Given the description of an element on the screen output the (x, y) to click on. 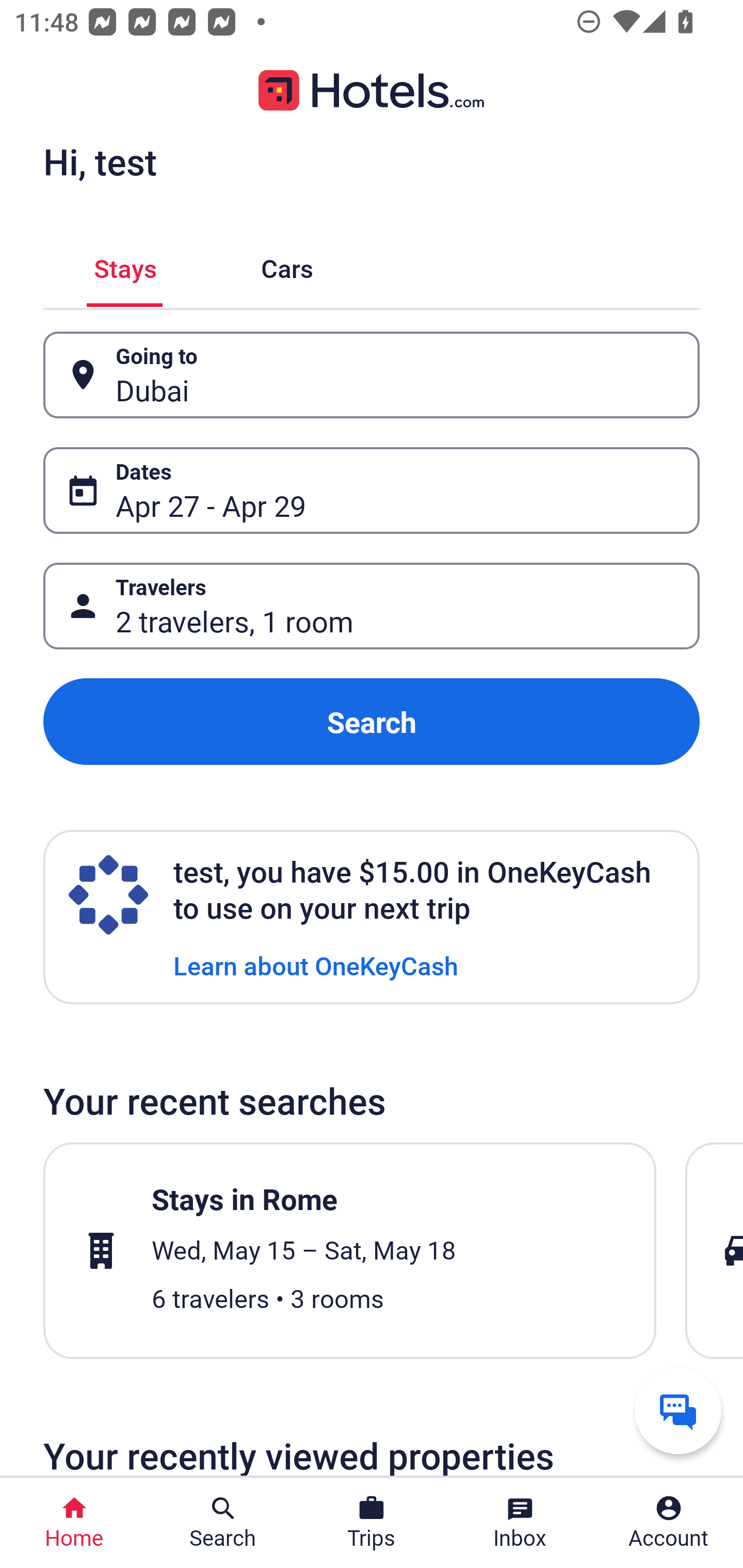
Hi, test (99, 161)
Cars (286, 265)
Going to Button Dubai (371, 375)
Dates Button Apr 27 - Apr 29 (371, 489)
Travelers Button 2 travelers, 1 room (371, 605)
Search (371, 721)
Learn about OneKeyCash Learn about OneKeyCash Link (315, 964)
Get help from a virtual agent (677, 1410)
Search Search Button (222, 1522)
Trips Trips Button (371, 1522)
Inbox Inbox Button (519, 1522)
Account Profile. Button (668, 1522)
